Given the description of an element on the screen output the (x, y) to click on. 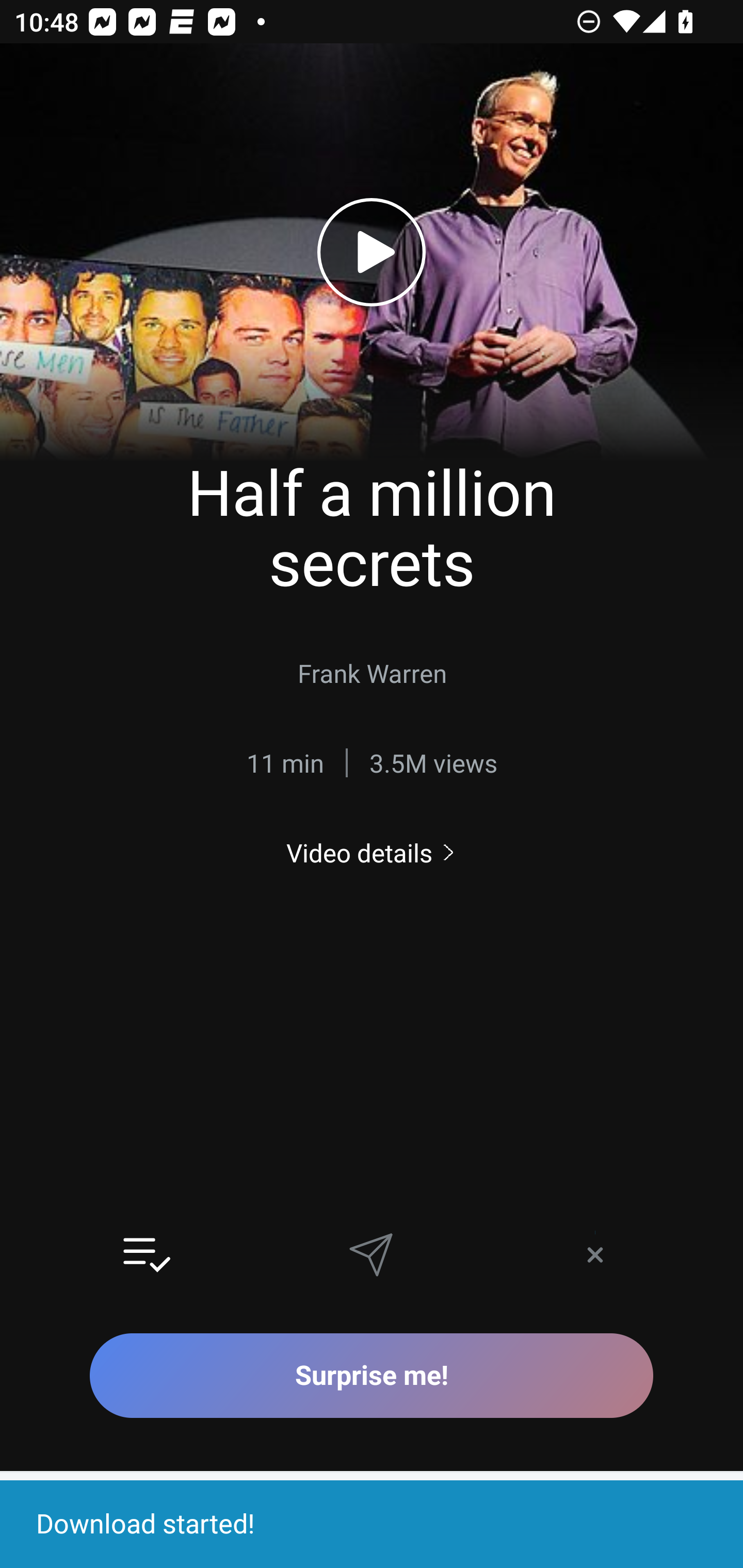
Video details (371, 852)
Surprise me! (371, 1374)
